Given the description of an element on the screen output the (x, y) to click on. 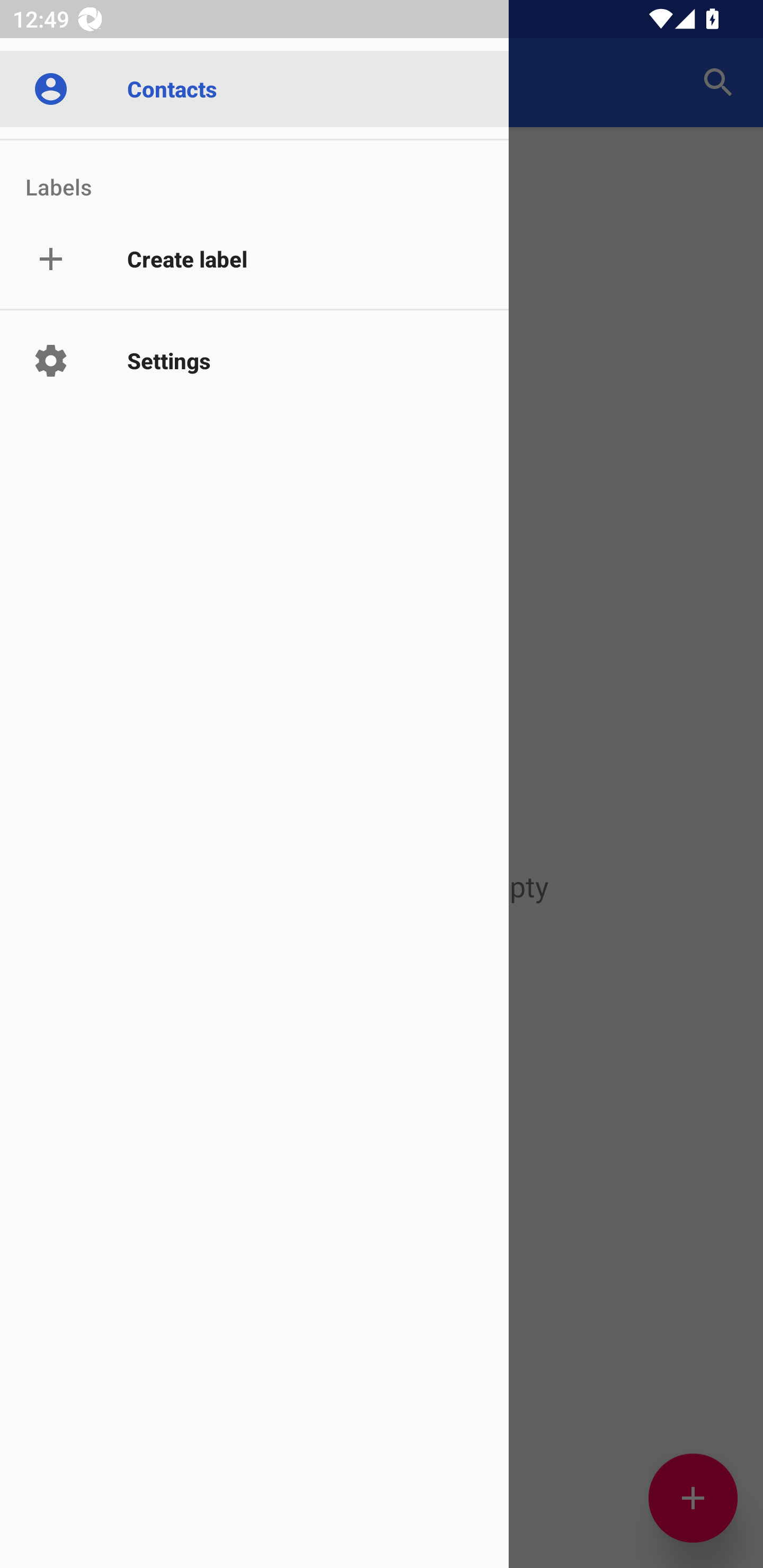
Contacts (254, 88)
Labels (254, 174)
Create label (254, 259)
Settings (254, 360)
